Given the description of an element on the screen output the (x, y) to click on. 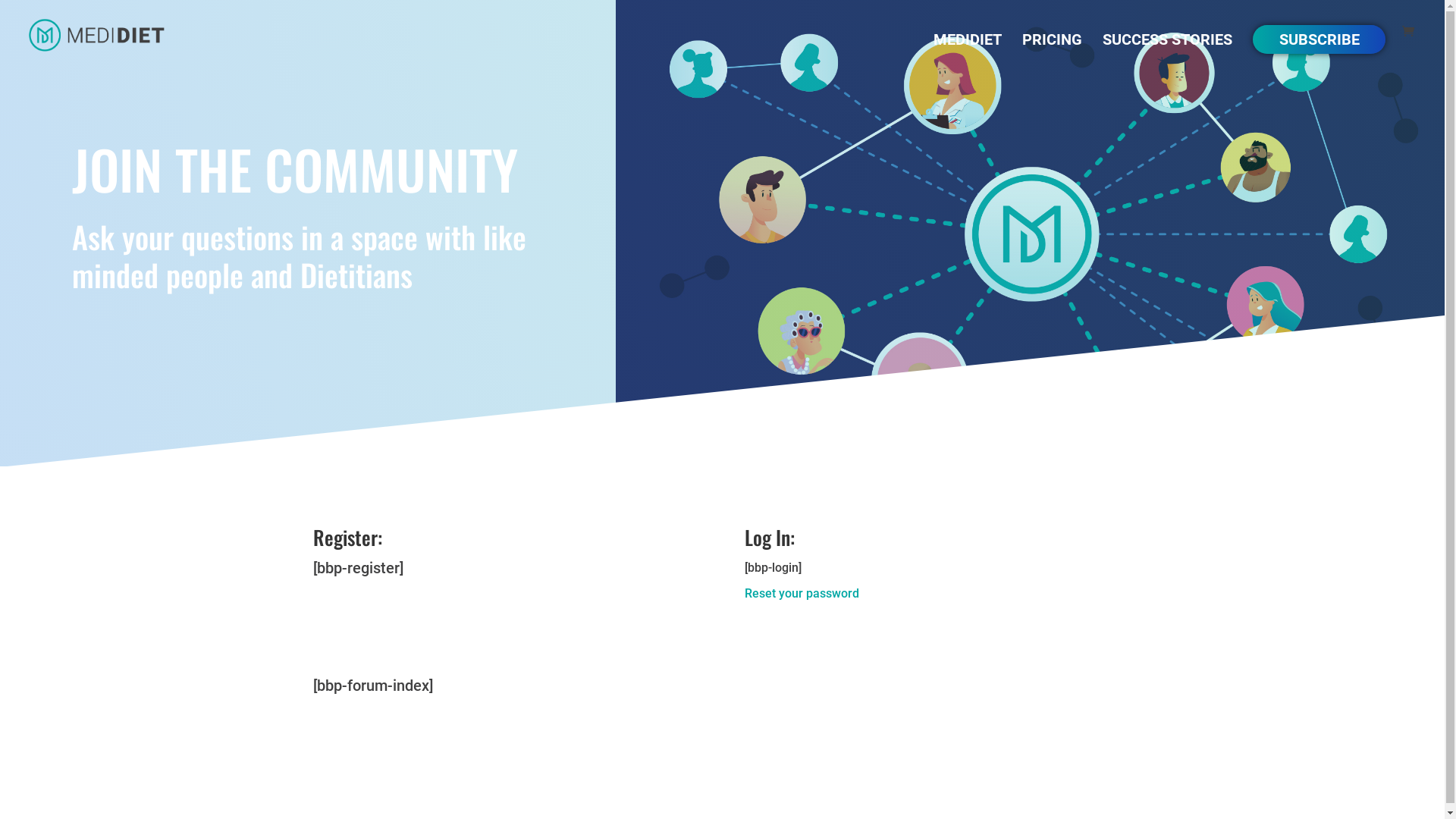
SUBSCRIBE Element type: text (1318, 39)
MEDIDIET Element type: text (967, 51)
PRICING Element type: text (1052, 51)
SUCCESS STORIES Element type: text (1167, 51)
Harper Digital Element type: text (611, 799)
Reset your password Element type: text (801, 593)
